Given the description of an element on the screen output the (x, y) to click on. 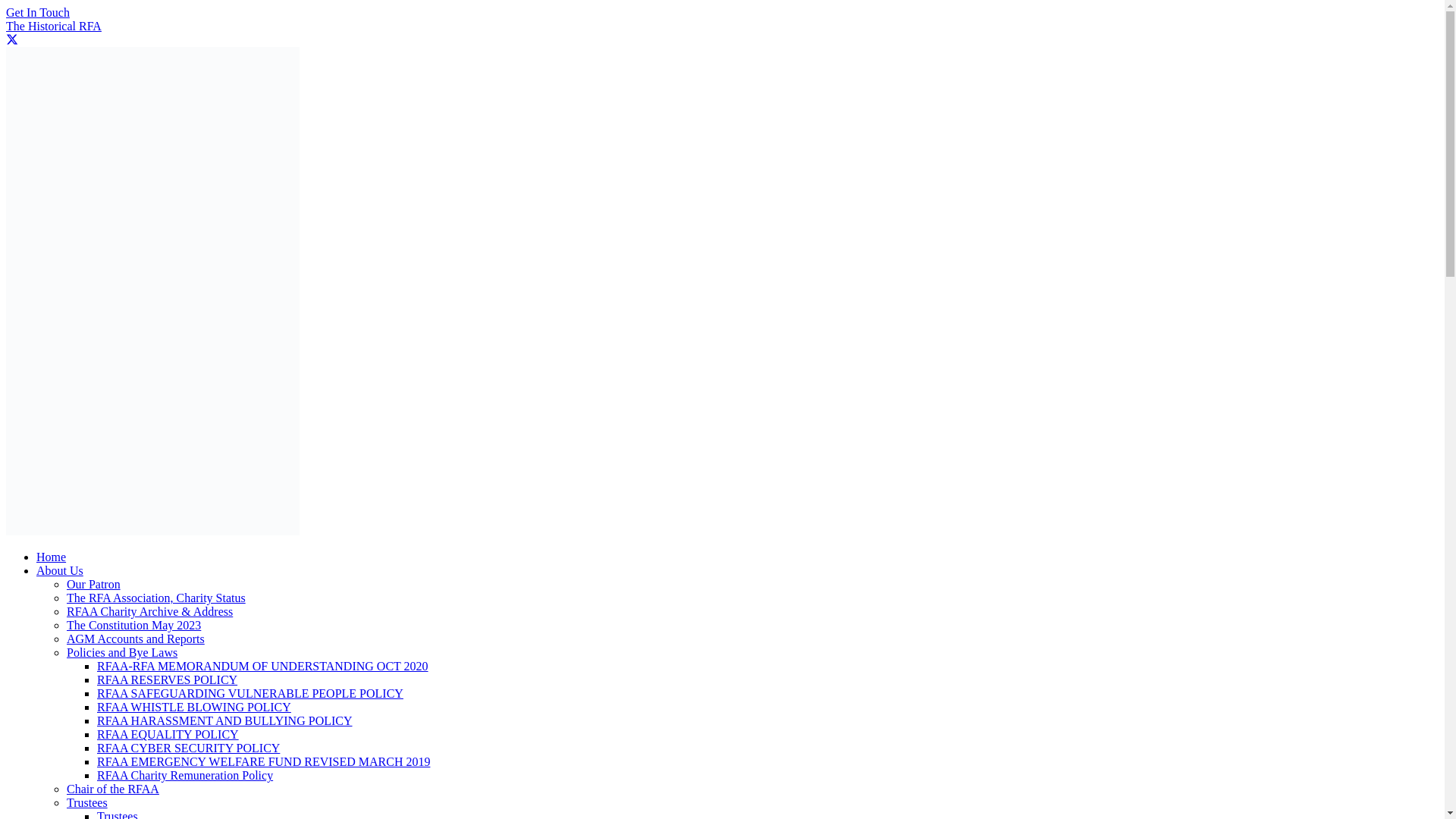
RFAA EMERGENCY WELFARE FUND REVISED MARCH 2019 (263, 761)
RFAA WHISTLE BLOWING POLICY (194, 707)
Chair of the RFAA (112, 788)
The RFA Association, Charity Status (156, 597)
The Constitution May 2023 (133, 625)
Get In Touch (37, 11)
RFAA RESERVES POLICY (167, 679)
Twitter (11, 39)
RFAA EQUALITY POLICY (167, 734)
AGM Accounts and Reports (135, 638)
